Given the description of an element on the screen output the (x, y) to click on. 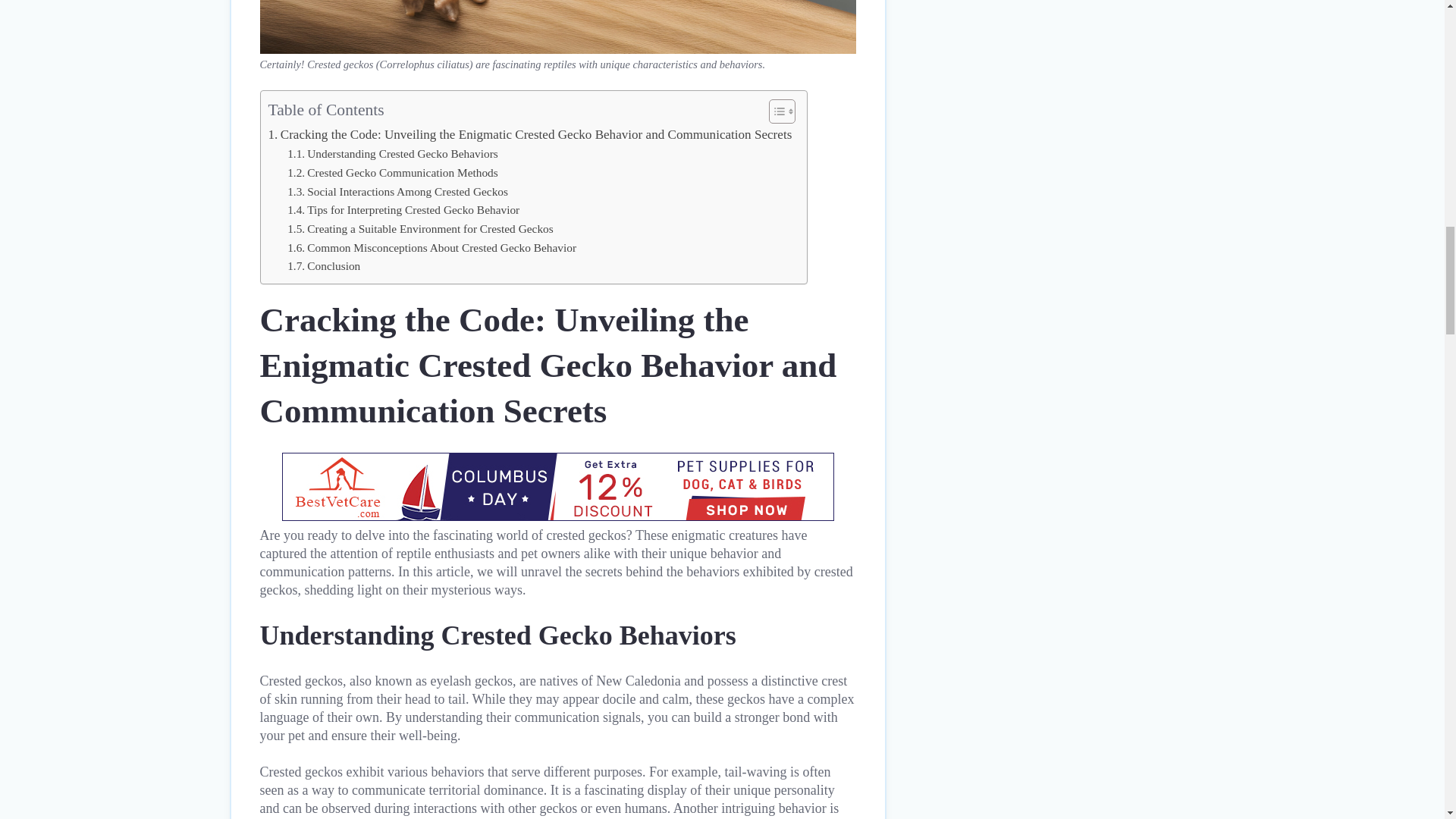
Conclusion (322, 266)
Common Misconceptions About Crested Gecko Behavior (431, 248)
Crested Gecko Communication Methods (391, 172)
Tips for Interpreting Crested Gecko Behavior (402, 210)
Creating a Suitable Environment for Crested Geckos (419, 229)
Understanding Crested Gecko Behaviors (391, 153)
Social Interactions Among Crested Geckos (397, 191)
